Given the description of an element on the screen output the (x, y) to click on. 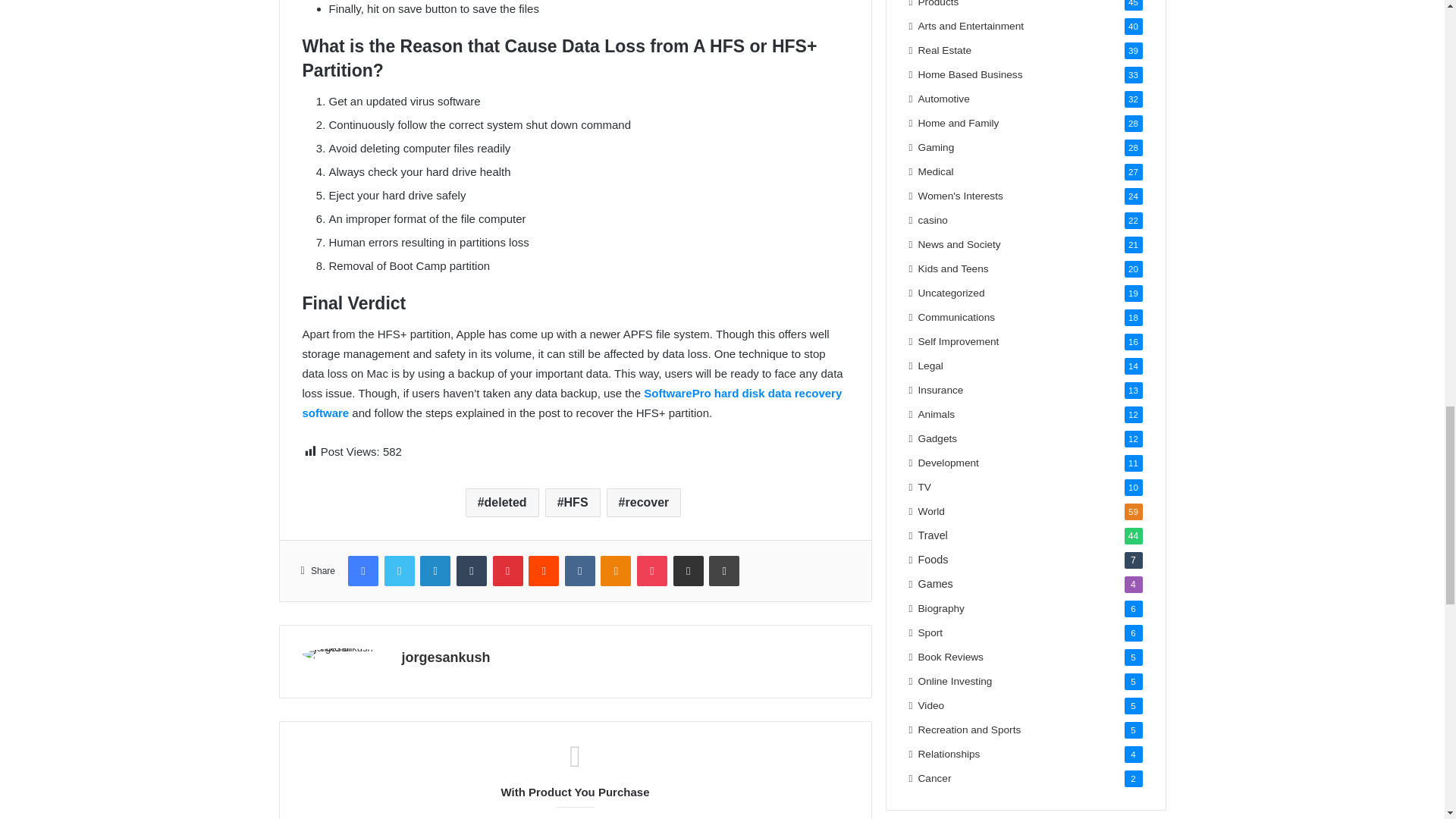
SoftwarePro hard disk data recovery software (571, 402)
recover (644, 502)
HFS (571, 502)
deleted (501, 502)
